Given the description of an element on the screen output the (x, y) to click on. 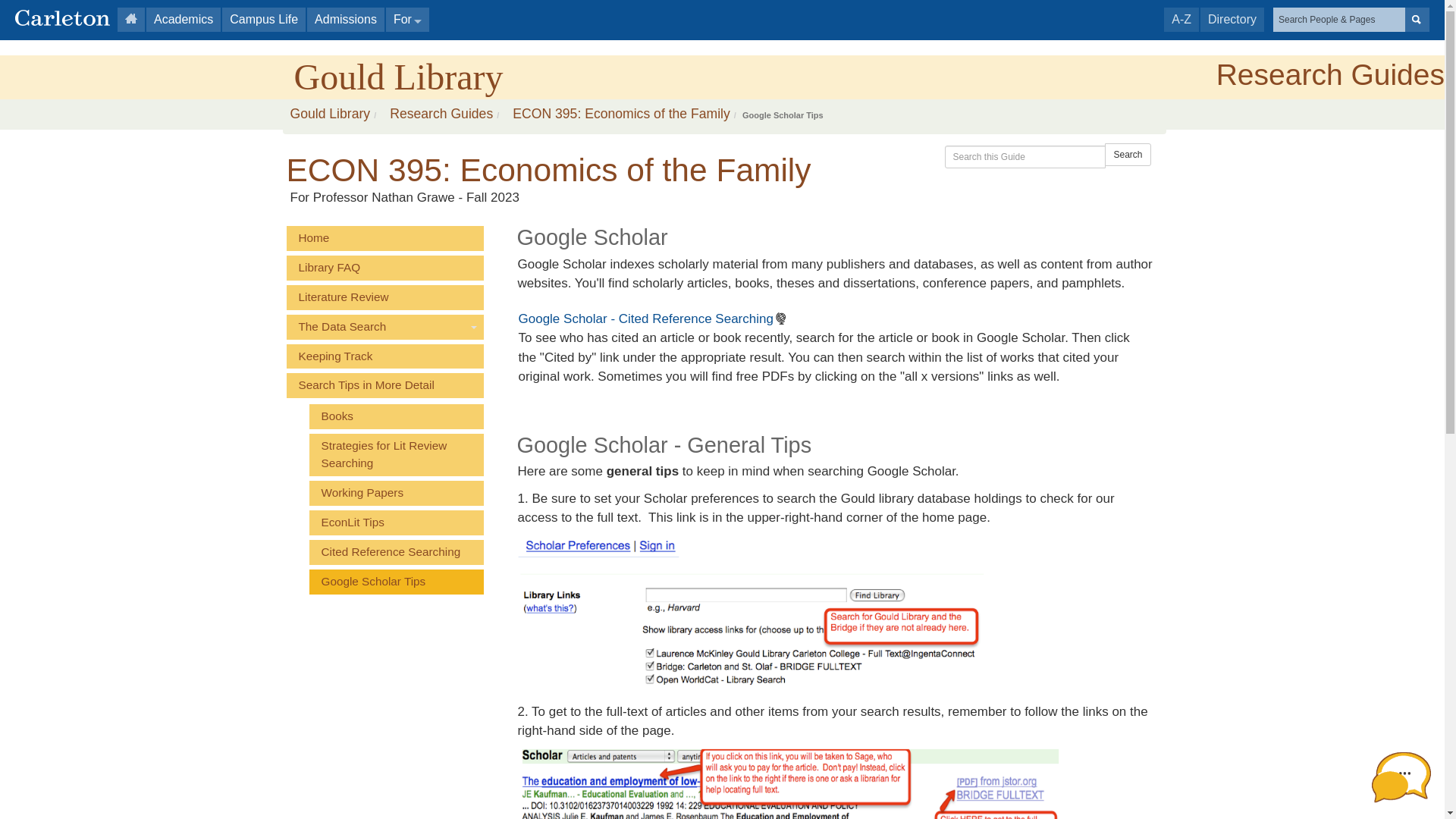
EconLit Tips (395, 522)
Strategies for Lit Review Searching (395, 454)
Literature Review (384, 297)
Cited Reference Searching (395, 552)
Research Guides (437, 113)
Keeping Track (384, 356)
Gould Library (395, 76)
Directory (1231, 19)
ECON 395: Economics of the Family (617, 113)
Home (384, 238)
Library FAQ (384, 267)
Campus Directory (1231, 19)
The Data Search (384, 326)
Campus Life (263, 19)
